Given the description of an element on the screen output the (x, y) to click on. 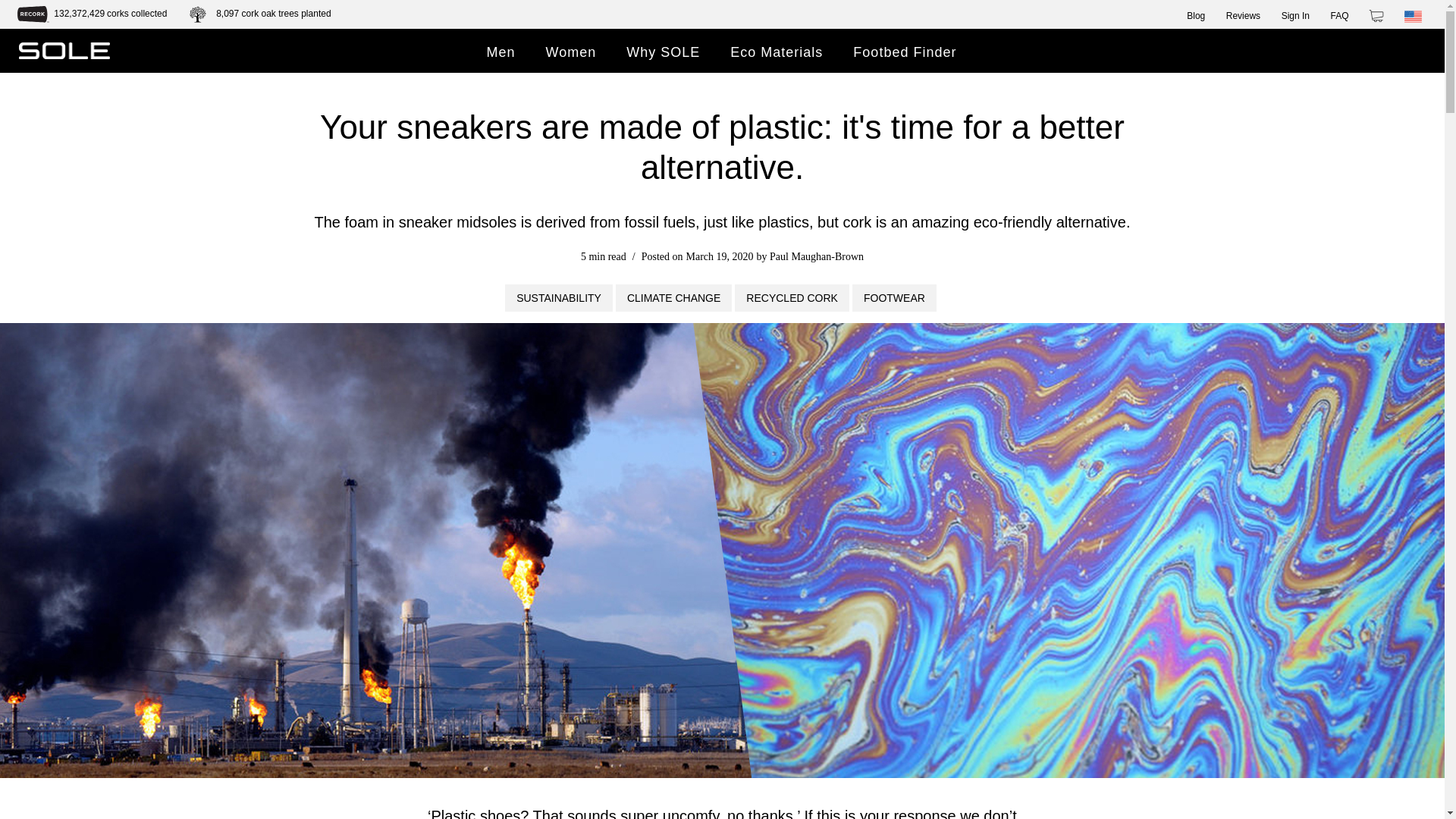
Sign In (1294, 11)
Shopping Cart (1375, 15)
Reviews (1242, 11)
FAQ (1339, 15)
Blog (1195, 15)
